Given the description of an element on the screen output the (x, y) to click on. 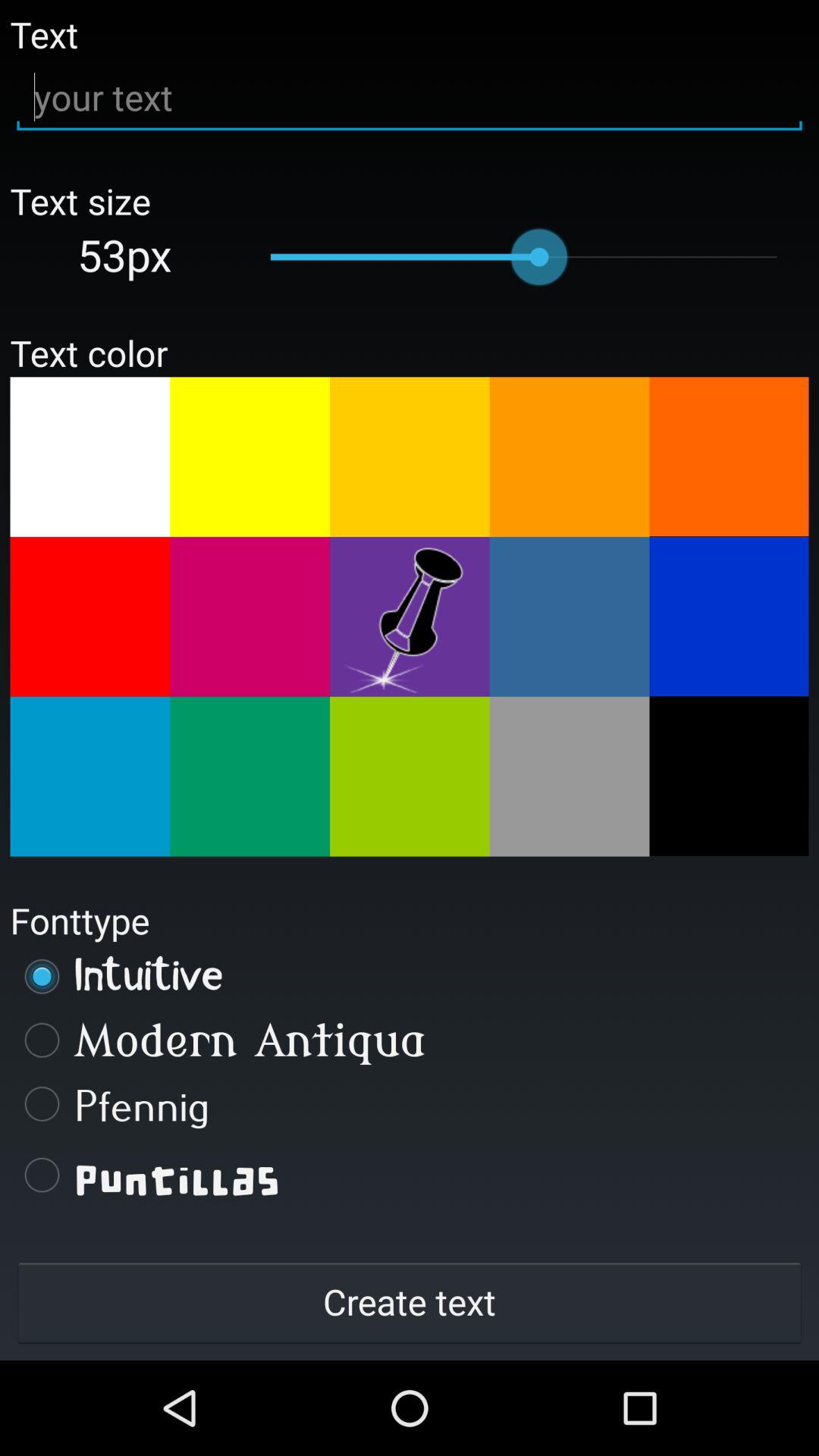
jump to the puntillas icon (409, 1174)
